Given the description of an element on the screen output the (x, y) to click on. 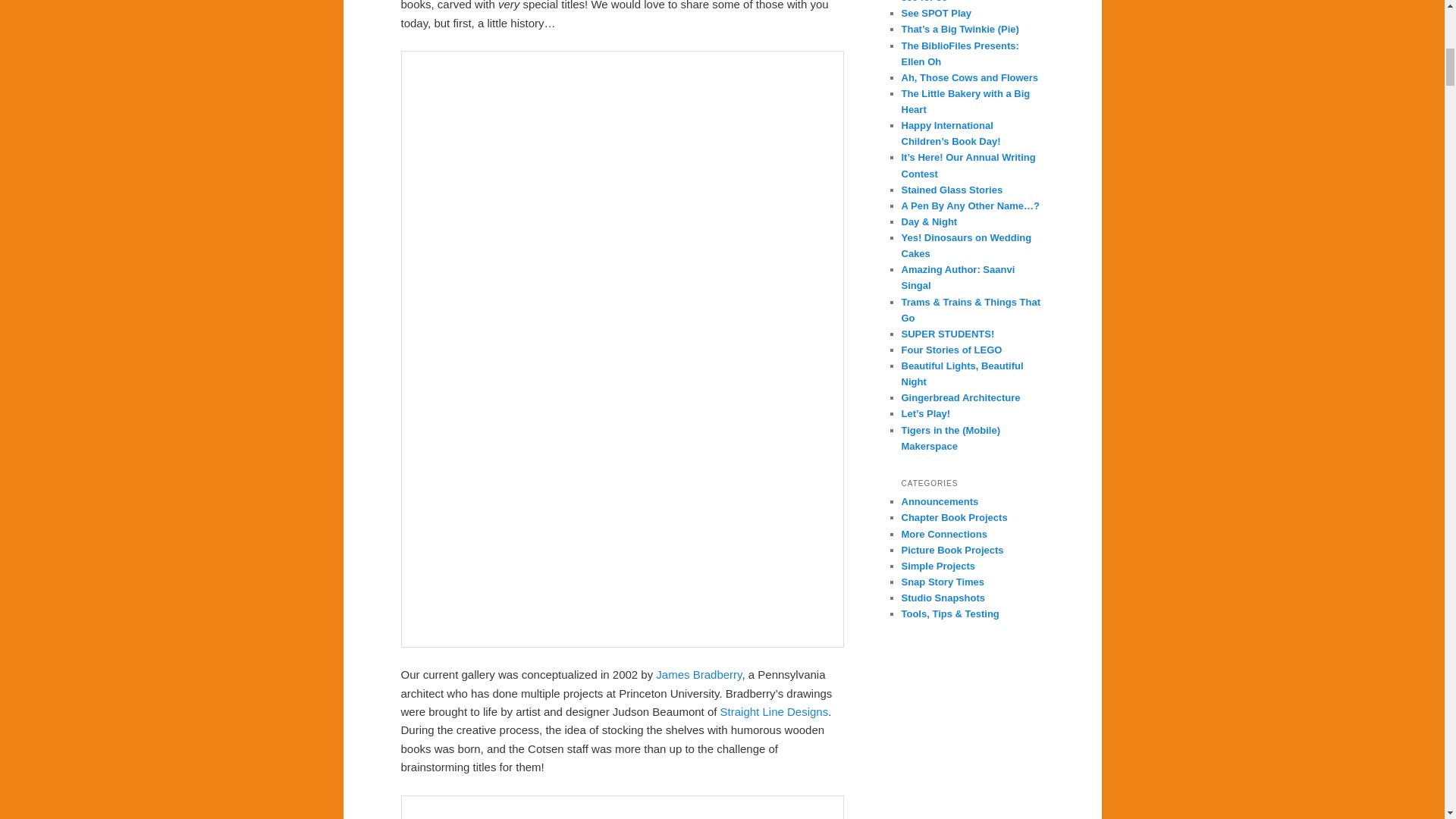
James Bradberry (698, 674)
Straight Line Designs (774, 711)
